Given the description of an element on the screen output the (x, y) to click on. 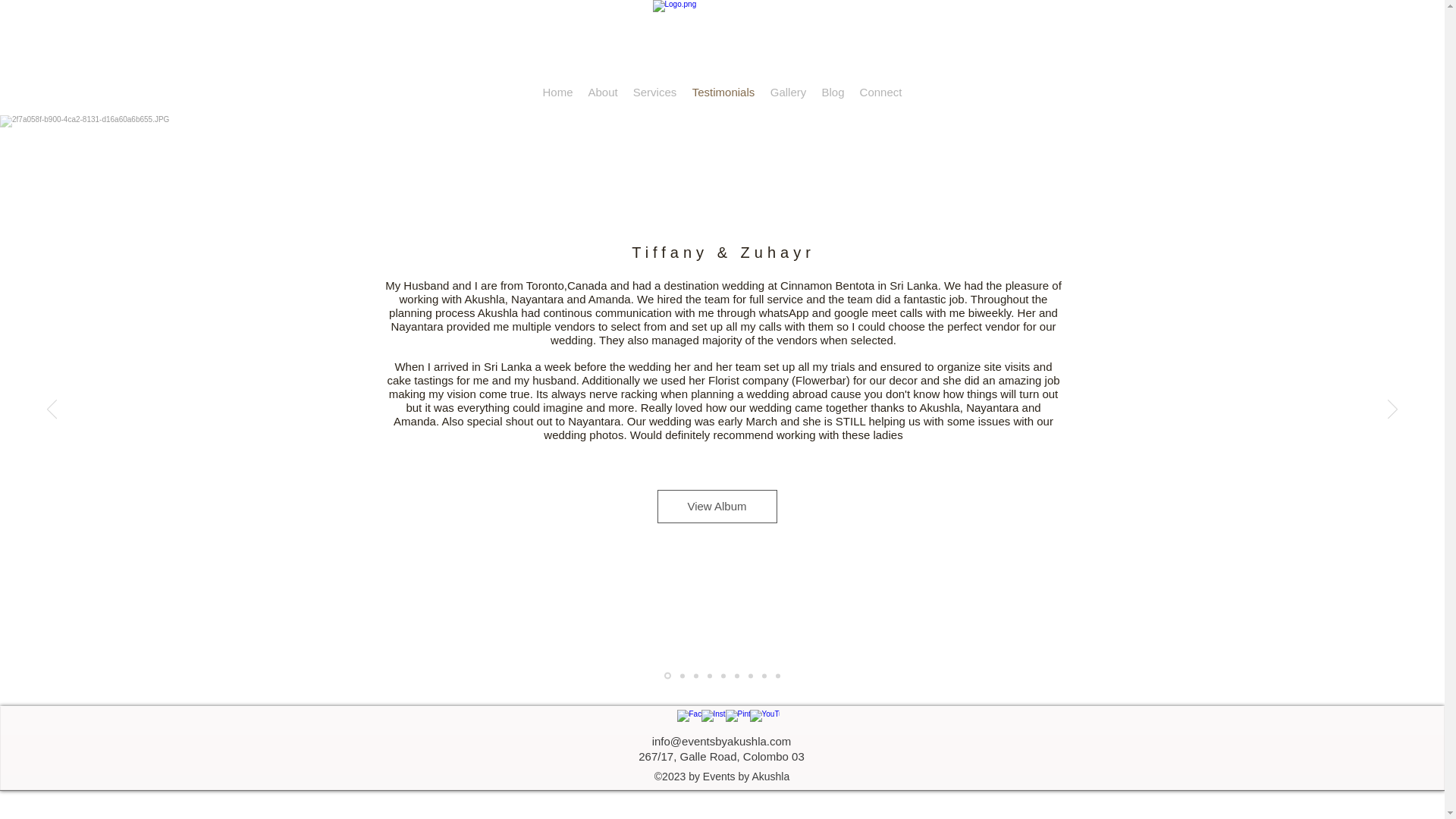
Home (557, 92)
Blog (832, 92)
Testimonials (722, 92)
View Album (716, 506)
About (603, 92)
Gallery (787, 92)
Connect (880, 92)
Services (654, 92)
